Given the description of an element on the screen output the (x, y) to click on. 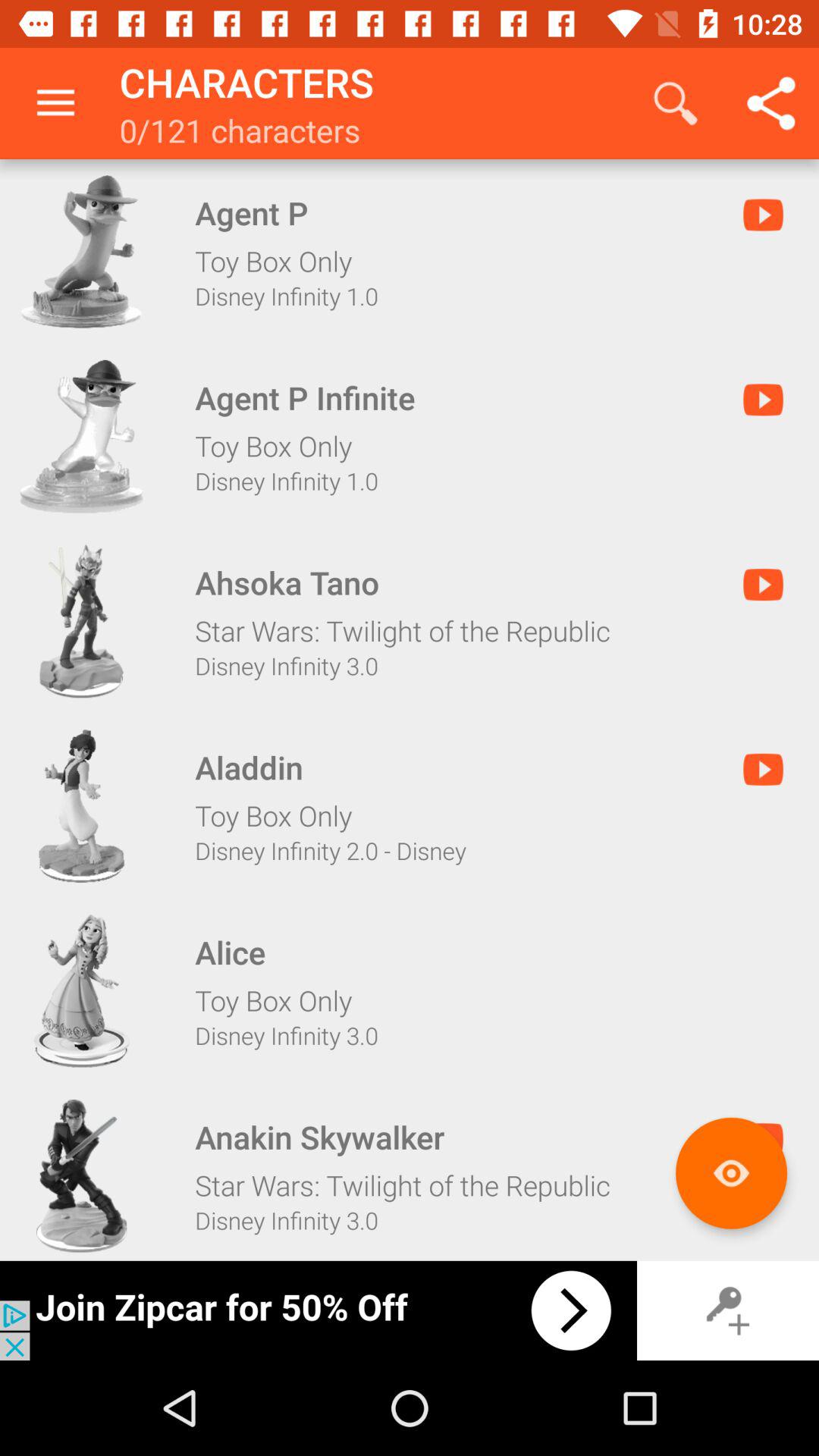
click to the song (81, 251)
